Given the description of an element on the screen output the (x, y) to click on. 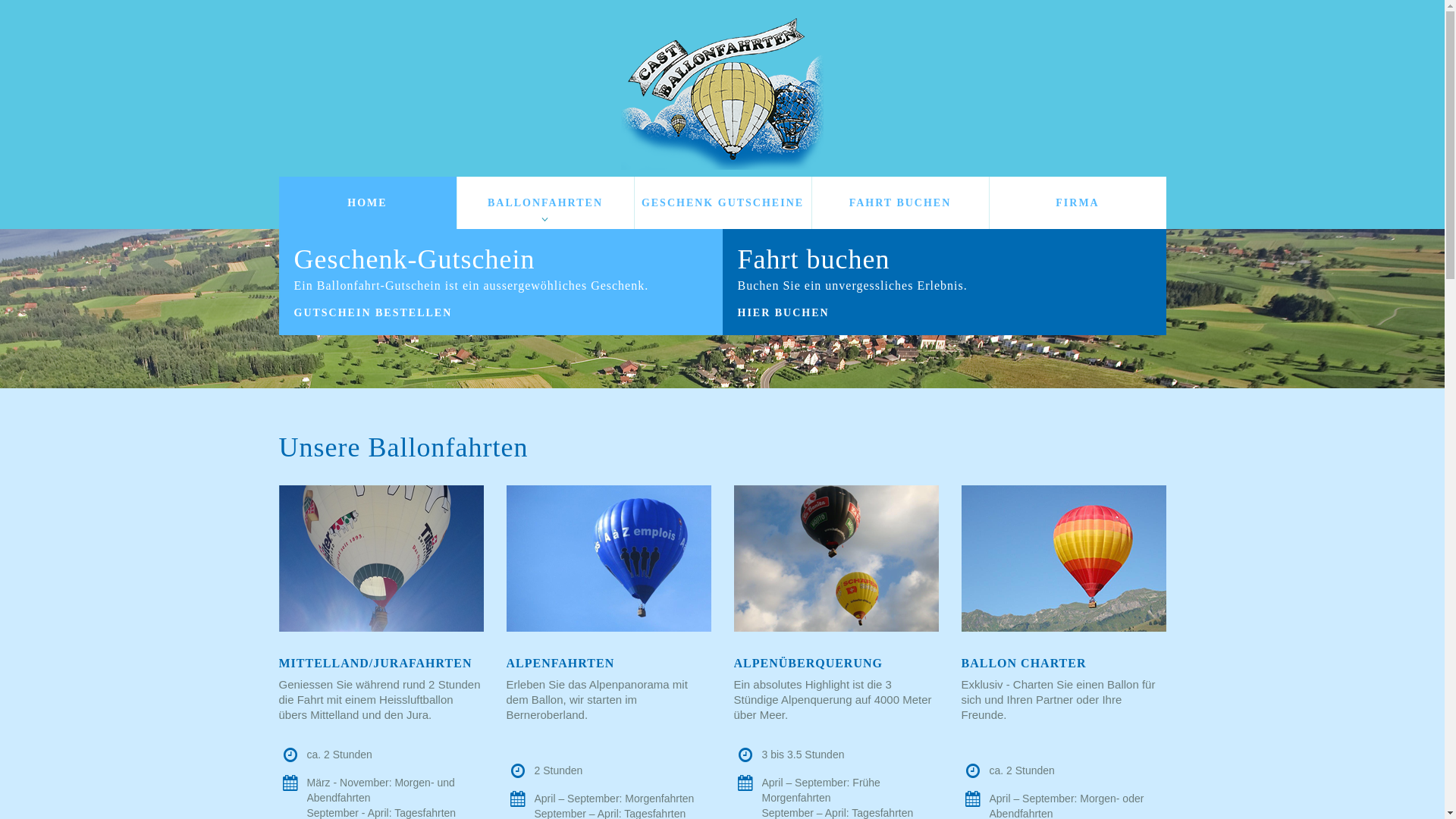
HIER BUCHEN Element type: text (787, 313)
FIRMA Element type: text (1076, 202)
Ballonswiss Cast-Ballonfahrten Element type: hover (722, 93)
HOME Element type: text (367, 202)
GESCHENK GUTSCHEINE Element type: text (721, 202)
BALLONFAHRTEN Element type: text (544, 202)
GUTSCHEIN BESTELLEN Element type: text (377, 313)
FAHRT BUCHEN Element type: text (899, 202)
